Given the description of an element on the screen output the (x, y) to click on. 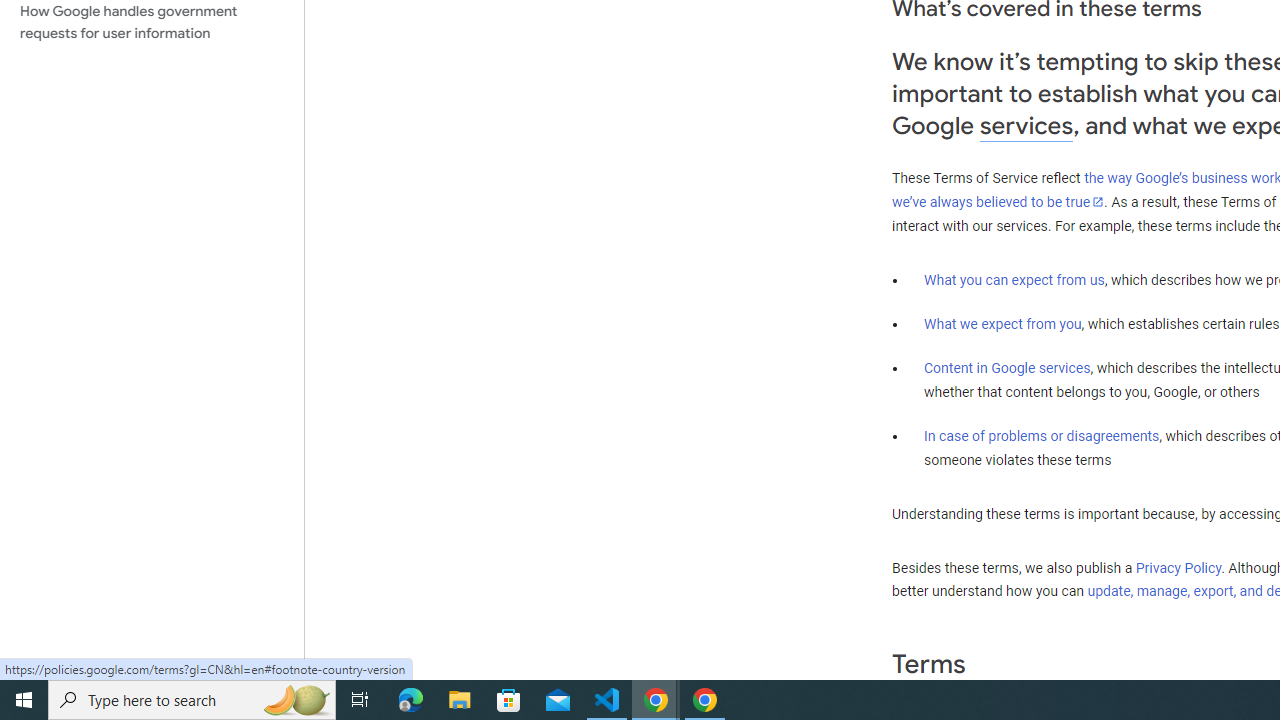
services (1026, 125)
Content in Google services (1007, 368)
What you can expect from us (1014, 279)
Privacy Policy (1178, 567)
What we expect from you (1002, 323)
In case of problems or disagreements (1041, 435)
